Given the description of an element on the screen output the (x, y) to click on. 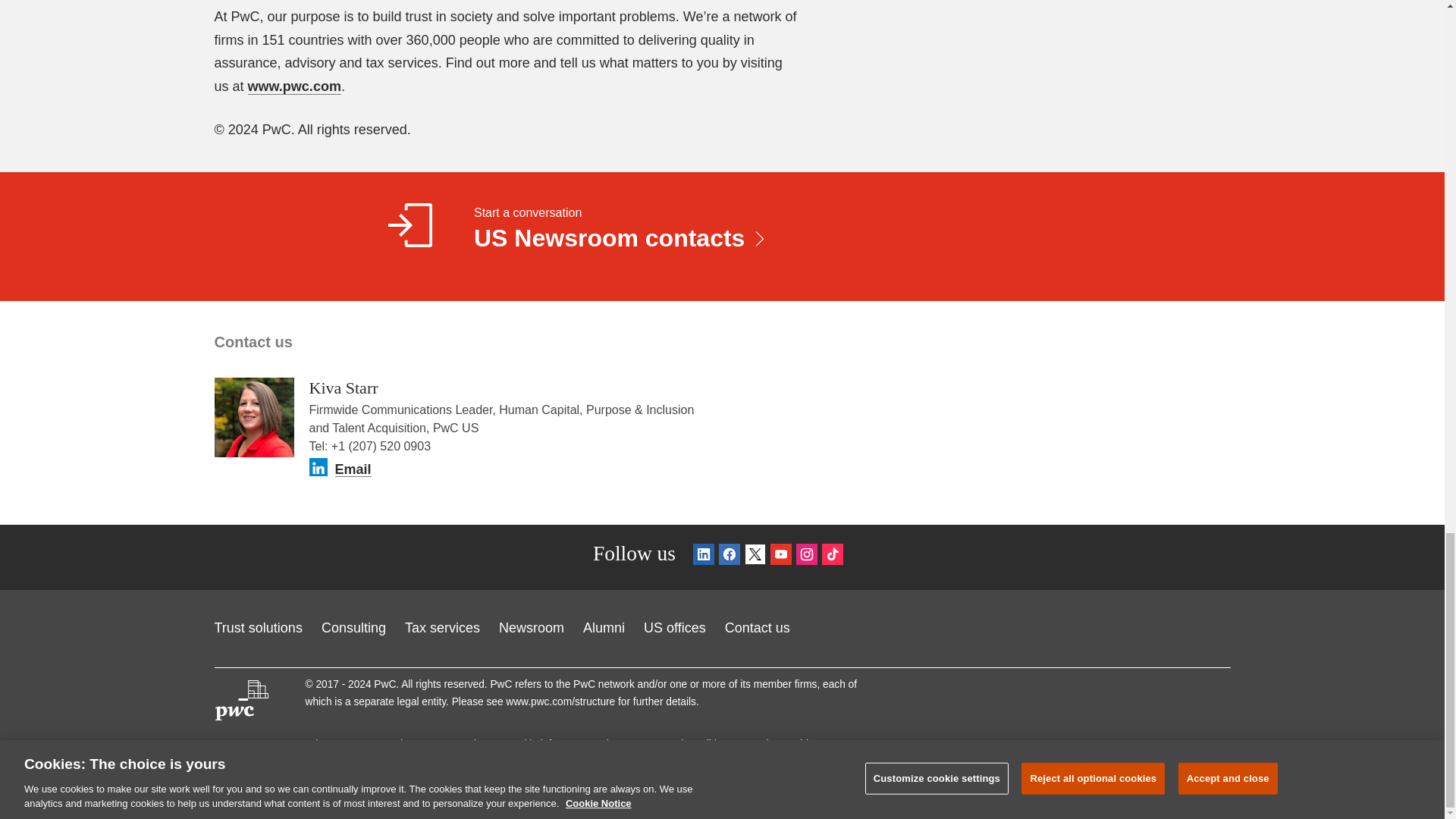
Facebook Follow (729, 556)
Linkedin Follow (703, 556)
Instagram Follow (806, 556)
X Follow (754, 556)
